Given the description of an element on the screen output the (x, y) to click on. 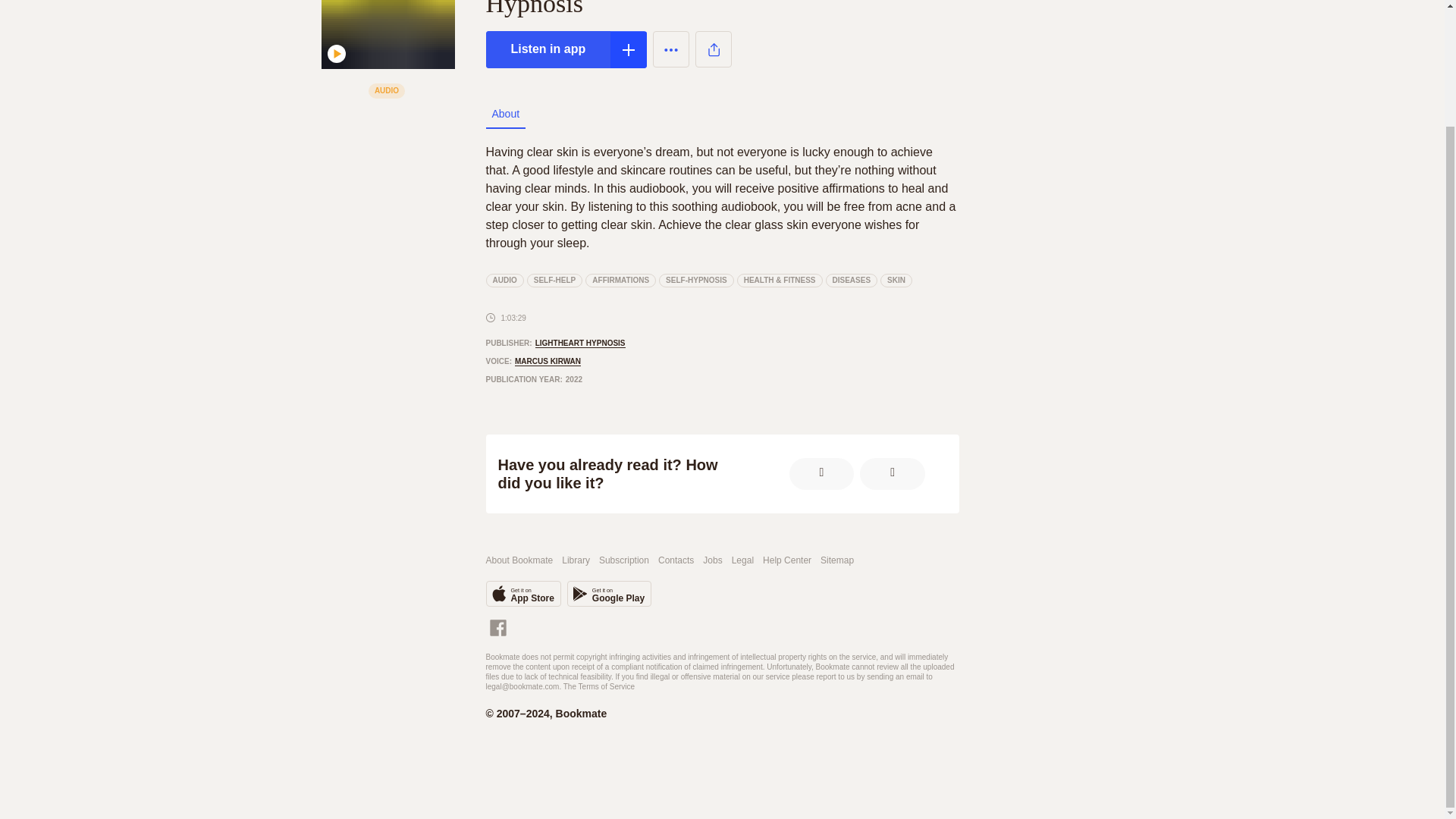
Jobs (712, 560)
The Terms of Service (598, 686)
Sitemap (837, 560)
Contacts (676, 560)
AUDIO (503, 280)
Subscription (522, 593)
SKIN (623, 560)
MARCUS KIRWAN (608, 593)
